Given the description of an element on the screen output the (x, y) to click on. 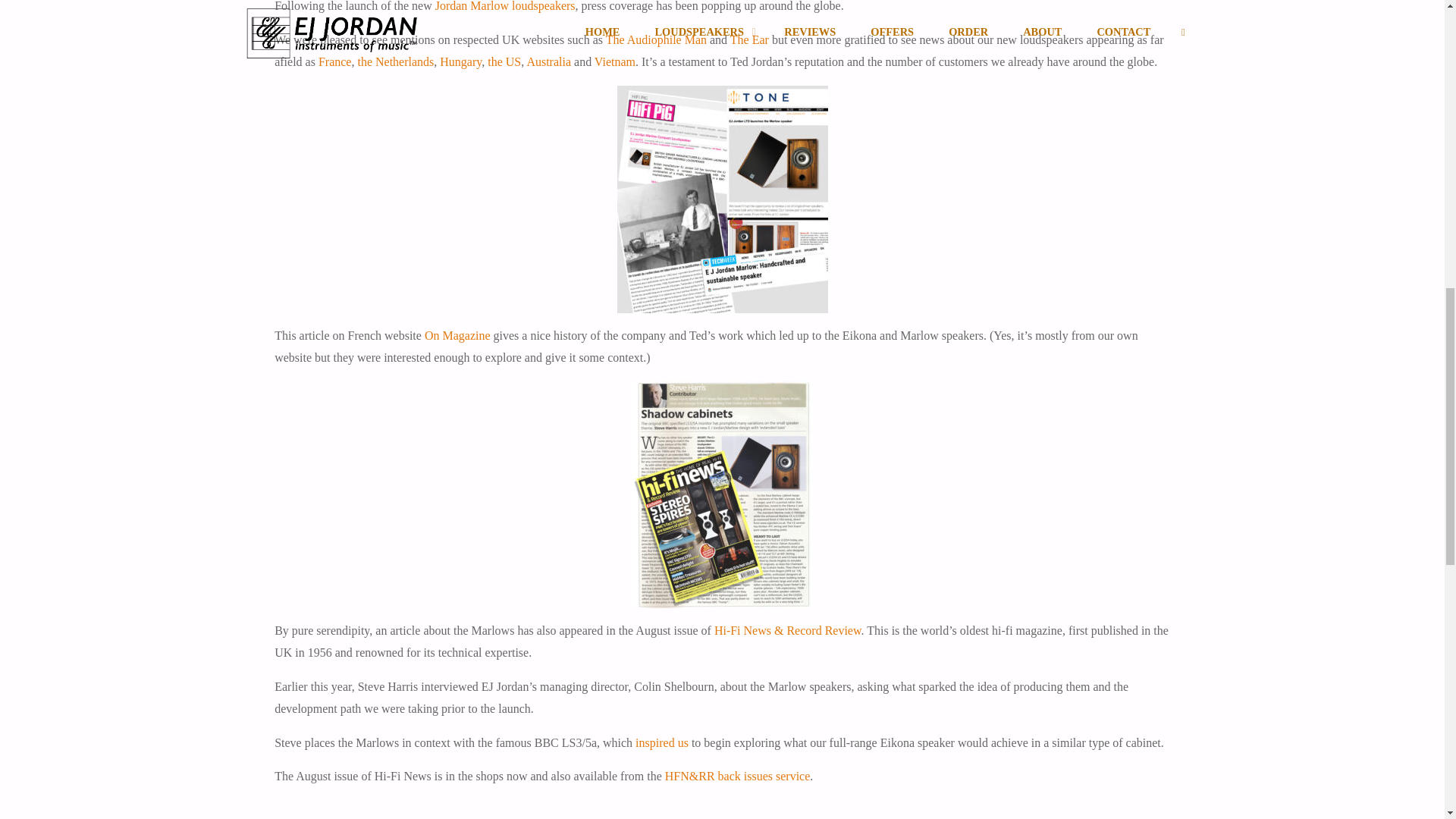
The Audiophile Man (655, 39)
Jordan Marlow loudspeakers (505, 6)
